Given the description of an element on the screen output the (x, y) to click on. 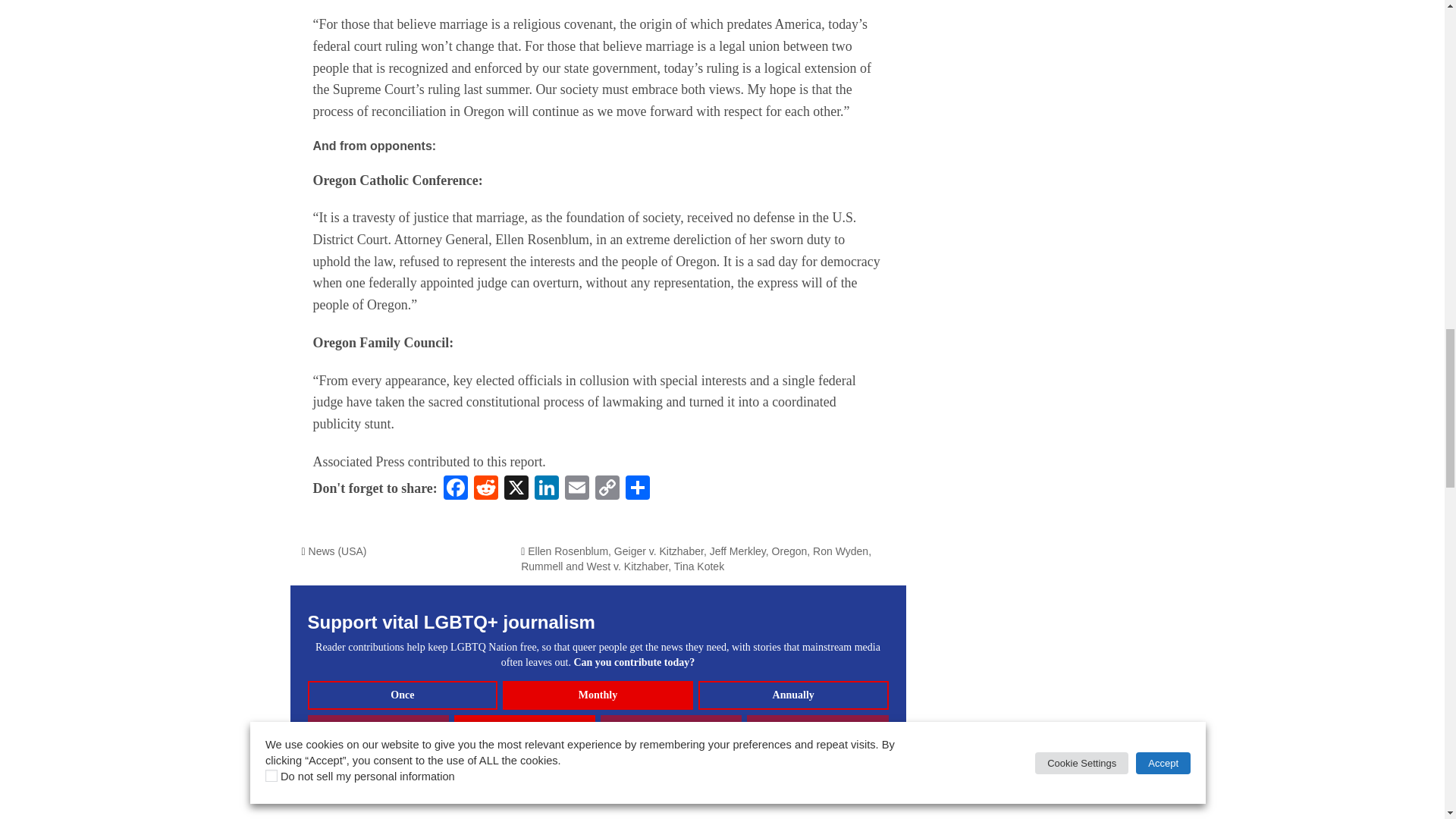
X (515, 489)
Email (577, 489)
LinkedIn (546, 489)
Copy Link (607, 489)
Share (637, 489)
X (515, 489)
Facebook (455, 489)
LinkedIn (546, 489)
Reddit (485, 489)
Email (577, 489)
Reddit (485, 489)
Facebook (455, 489)
Copy Link (607, 489)
